Given the description of an element on the screen output the (x, y) to click on. 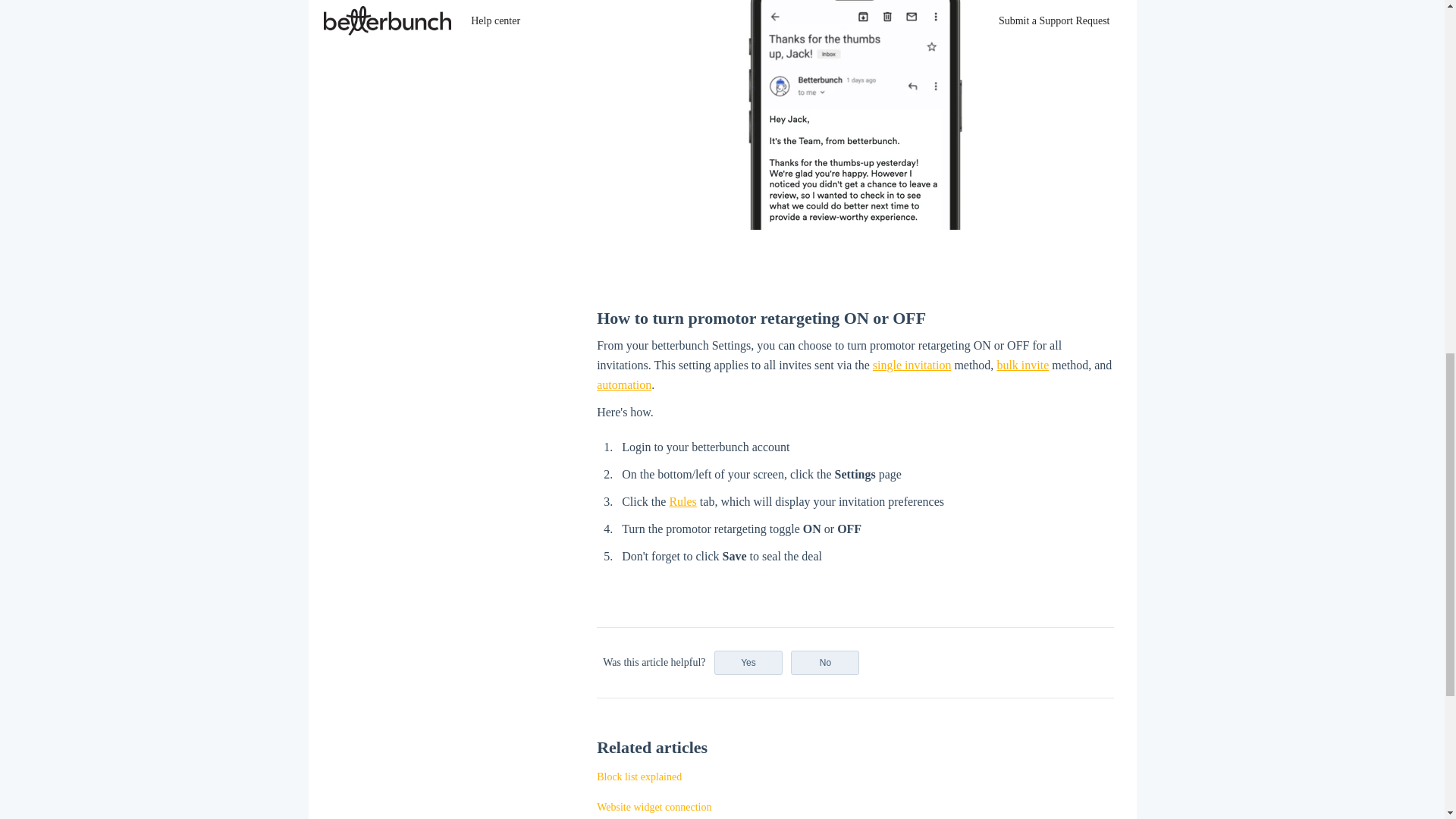
Yes (748, 662)
bulk invite (1021, 364)
single invitation (912, 364)
Rules (681, 501)
Block list explained (638, 776)
No (824, 662)
automation (623, 384)
Website widget connection (653, 807)
